Given the description of an element on the screen output the (x, y) to click on. 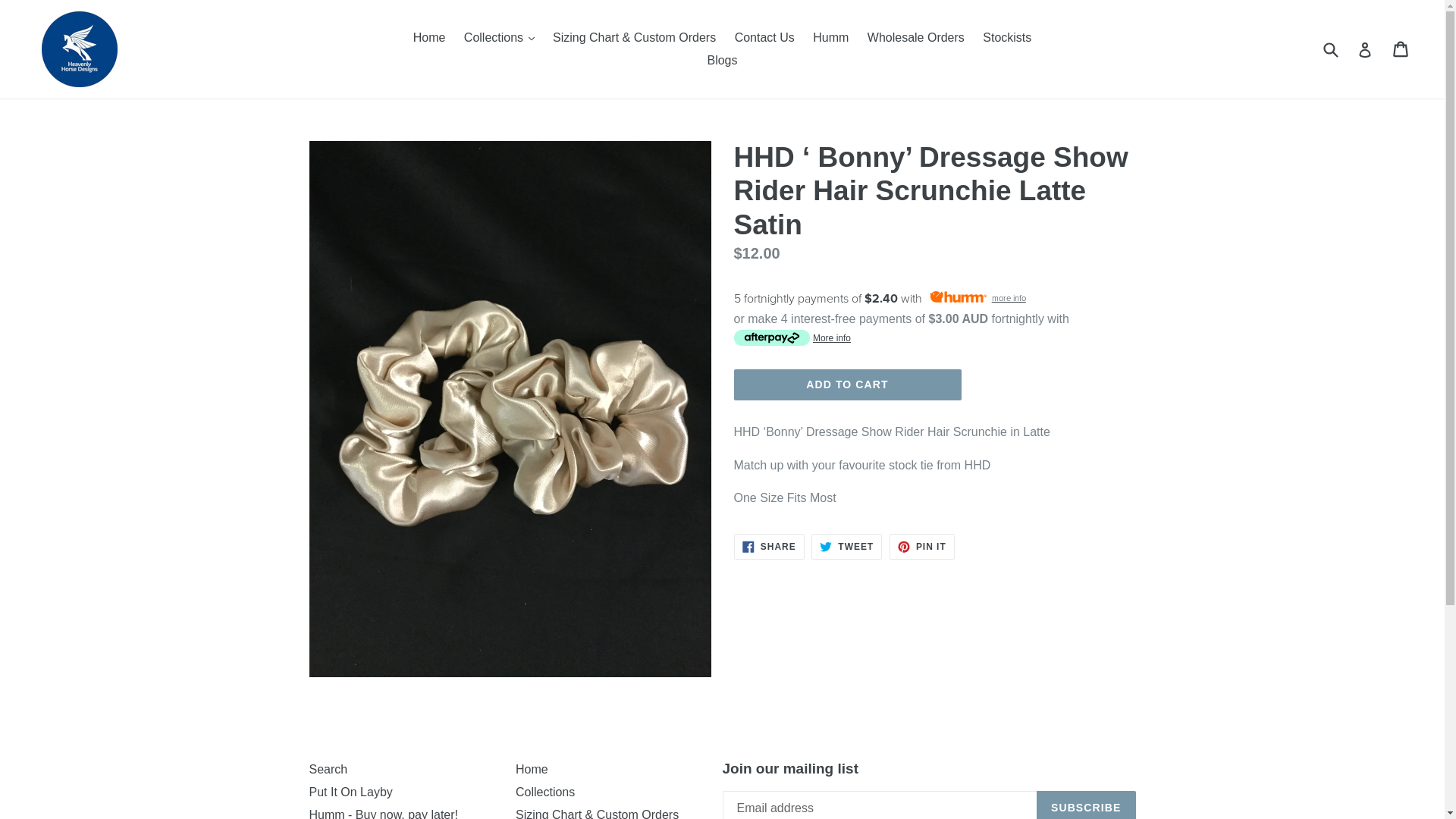
TWEET
TWEET ON TWITTER Element type: text (846, 546)
Blogs Element type: text (721, 60)
Sizing Chart & Custom Orders Element type: text (634, 37)
Log in Element type: text (1364, 49)
5 fortnightly payments of $2.40 with more info Element type: text (934, 298)
Cart
Cart Element type: text (1401, 48)
Contact Us Element type: text (764, 37)
Collections Element type: text (544, 791)
Search Element type: text (328, 768)
Wholesale Orders Element type: text (915, 37)
Put It On Layby Element type: text (350, 791)
Home Element type: text (429, 37)
Stockists Element type: text (1006, 37)
PIN IT
PIN ON PINTEREST Element type: text (921, 546)
SHARE
SHARE ON FACEBOOK Element type: text (769, 546)
Submit Element type: text (1329, 48)
Humm Element type: text (830, 37)
ADD TO CART Element type: text (847, 385)
Home Element type: text (531, 768)
More info Element type: text (792, 337)
